Given the description of an element on the screen output the (x, y) to click on. 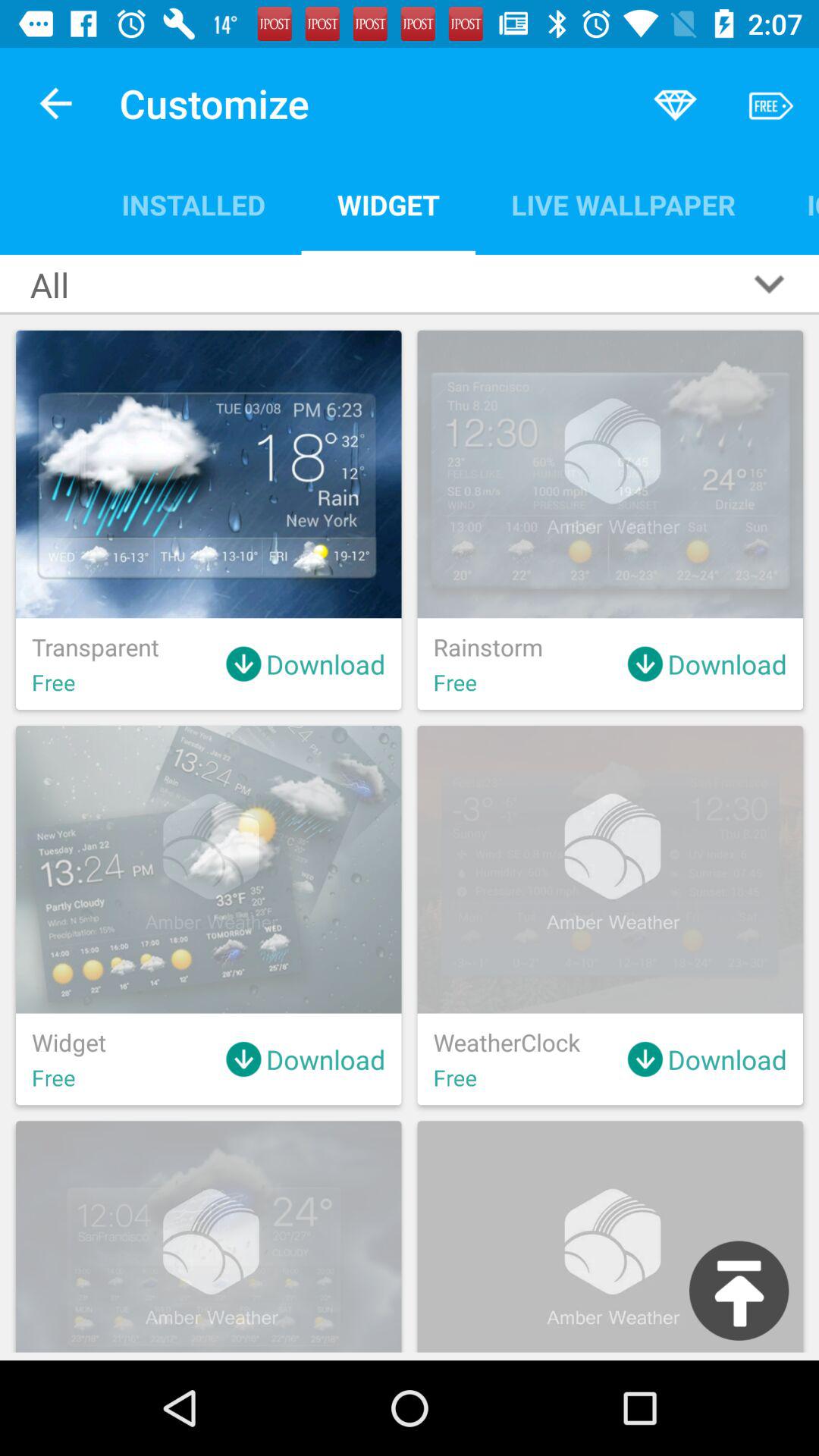
turn on the icon to the right of the live wallpaper icon (795, 204)
